Given the description of an element on the screen output the (x, y) to click on. 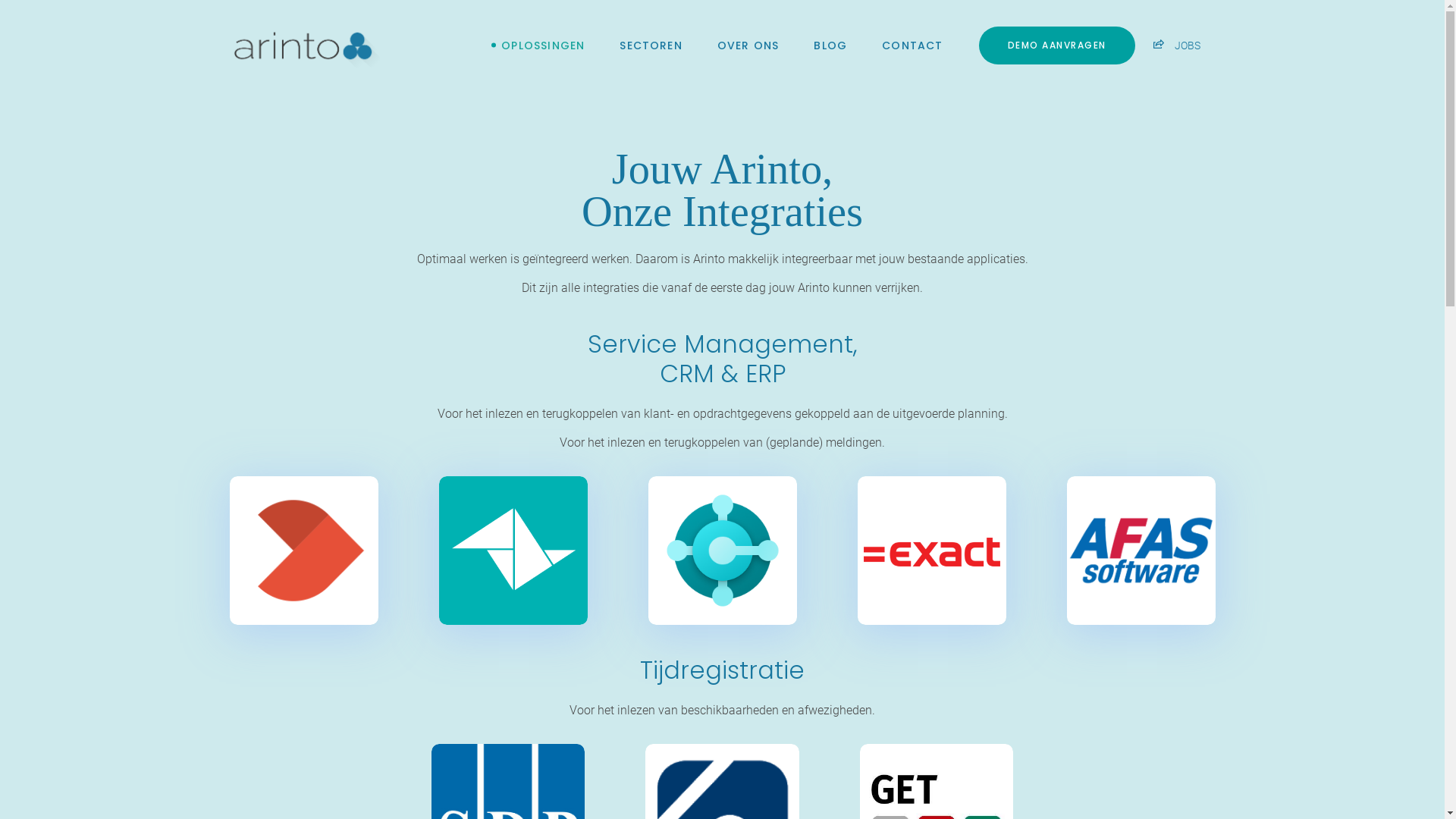
JOBS Element type: text (1175, 45)
BLOG Element type: text (830, 45)
SECTOREN Element type: text (650, 45)
OVER ONS Element type: text (748, 45)
CONTACT Element type: text (912, 45)
OPLOSSINGEN Element type: text (542, 45)
DEMO AANVRAGEN Element type: text (1056, 45)
